Given the description of an element on the screen output the (x, y) to click on. 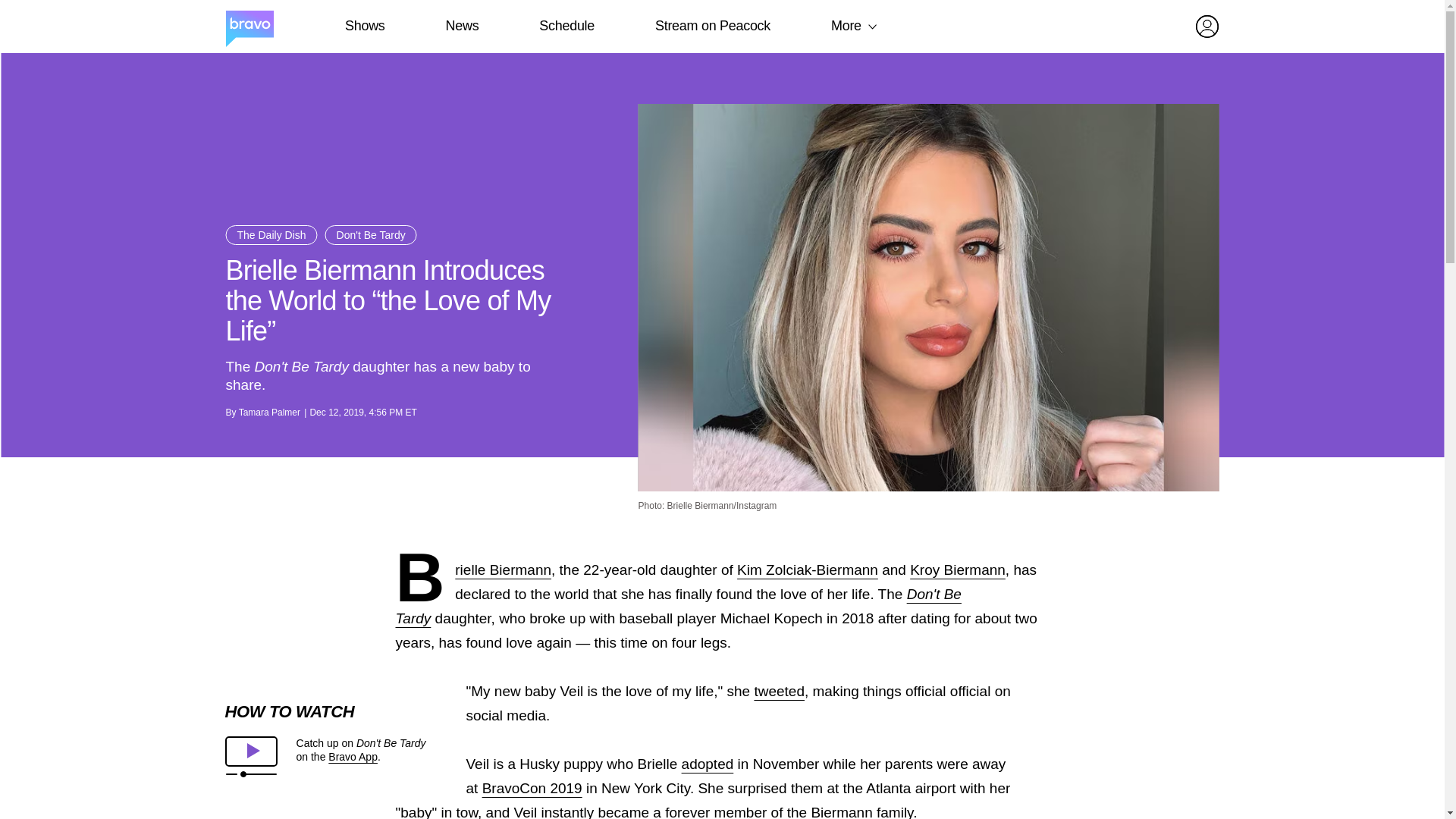
Shows (363, 26)
adopted (707, 763)
tweeted (779, 691)
Kim Zolciak-Biermann (806, 569)
More (846, 26)
Home (249, 26)
Kroy Biermann (958, 569)
Don't Be Tardy (370, 234)
The Daily Dish (271, 234)
Stream on Peacock (712, 26)
Bravo App (353, 756)
Brielle Biermann (502, 569)
BravoCon 2019 (531, 788)
Don't Be Tardy (678, 606)
